Given the description of an element on the screen output the (x, y) to click on. 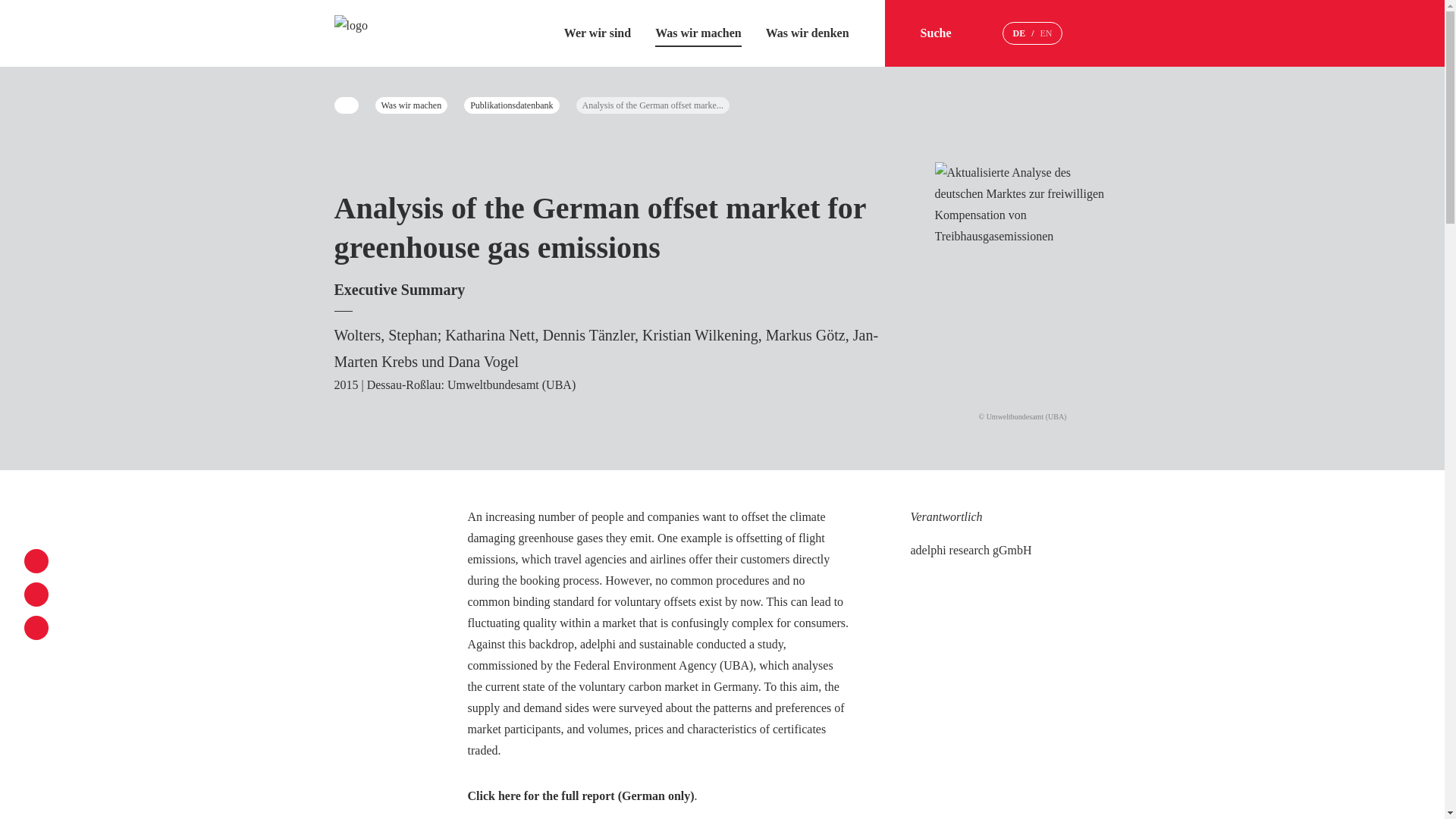
English (1046, 32)
EN (1046, 32)
Wer wir sind (597, 32)
Deutsch (1018, 32)
DE (1018, 32)
Suche (949, 33)
Was wir machen (698, 32)
Startseite (349, 33)
Was wir denken (806, 32)
